Given the description of an element on the screen output the (x, y) to click on. 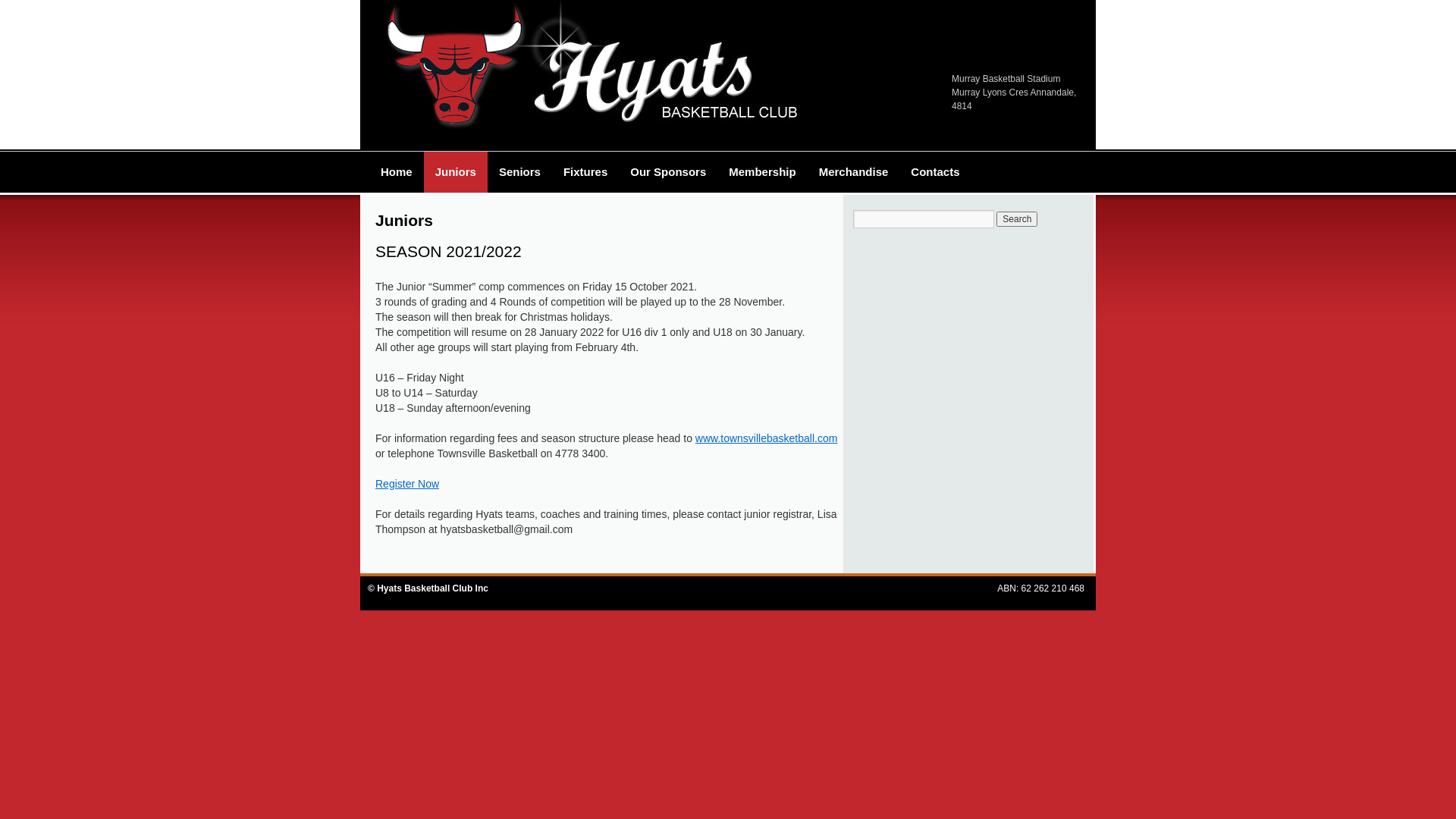
Seniors Element type: text (519, 171)
Our Sponsors Element type: text (667, 171)
Contacts Element type: text (934, 171)
www.townsvillebasketball.com Element type: text (766, 438)
Membership Element type: text (761, 171)
Juniors Element type: text (455, 171)
Hyats Basketball Club Inc Element type: text (432, 588)
Fixtures Element type: text (585, 171)
Search Element type: text (1016, 218)
Merchandise Element type: text (853, 171)
Register Now Element type: text (407, 483)
Home Element type: text (396, 171)
